Given the description of an element on the screen output the (x, y) to click on. 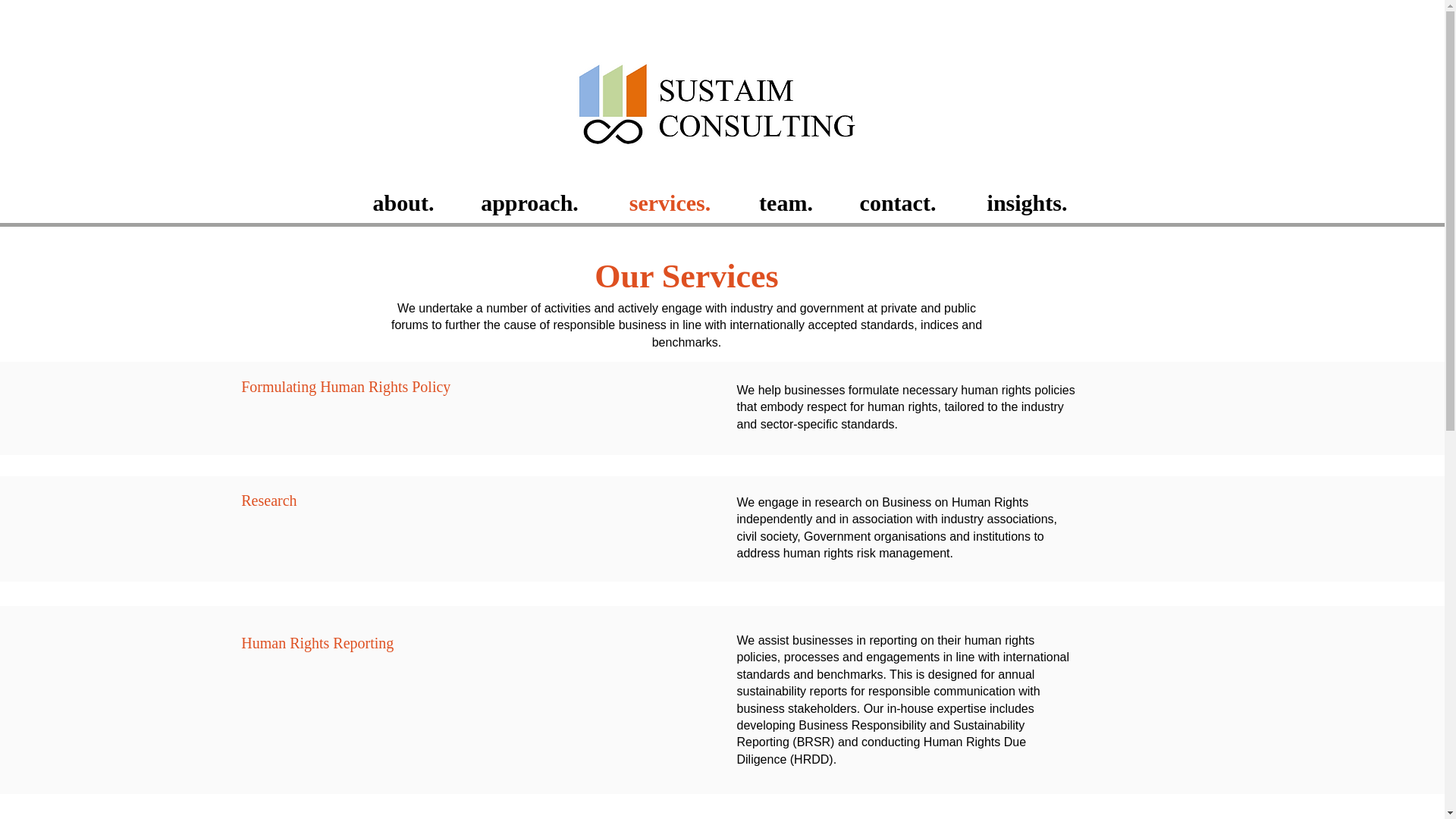
team. (785, 202)
about. (402, 202)
approach. (530, 202)
contact. (897, 202)
services. (670, 202)
insights. (1026, 202)
